Given the description of an element on the screen output the (x, y) to click on. 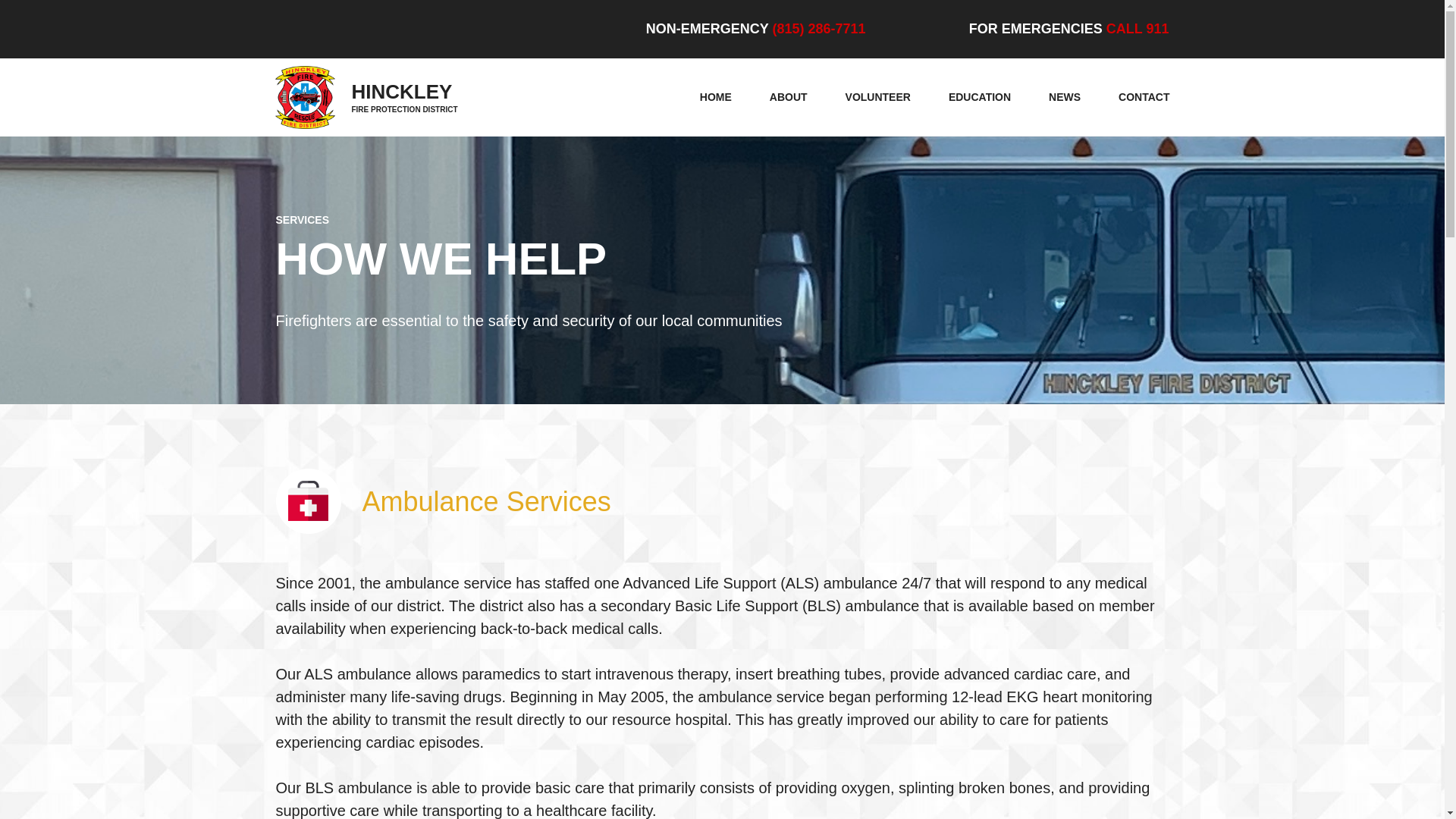
VOLUNTEER (878, 97)
ABOUT (789, 97)
HOME (716, 97)
CONTACT (1143, 97)
NEWS (1064, 97)
EDUCATION (979, 97)
